Given the description of an element on the screen output the (x, y) to click on. 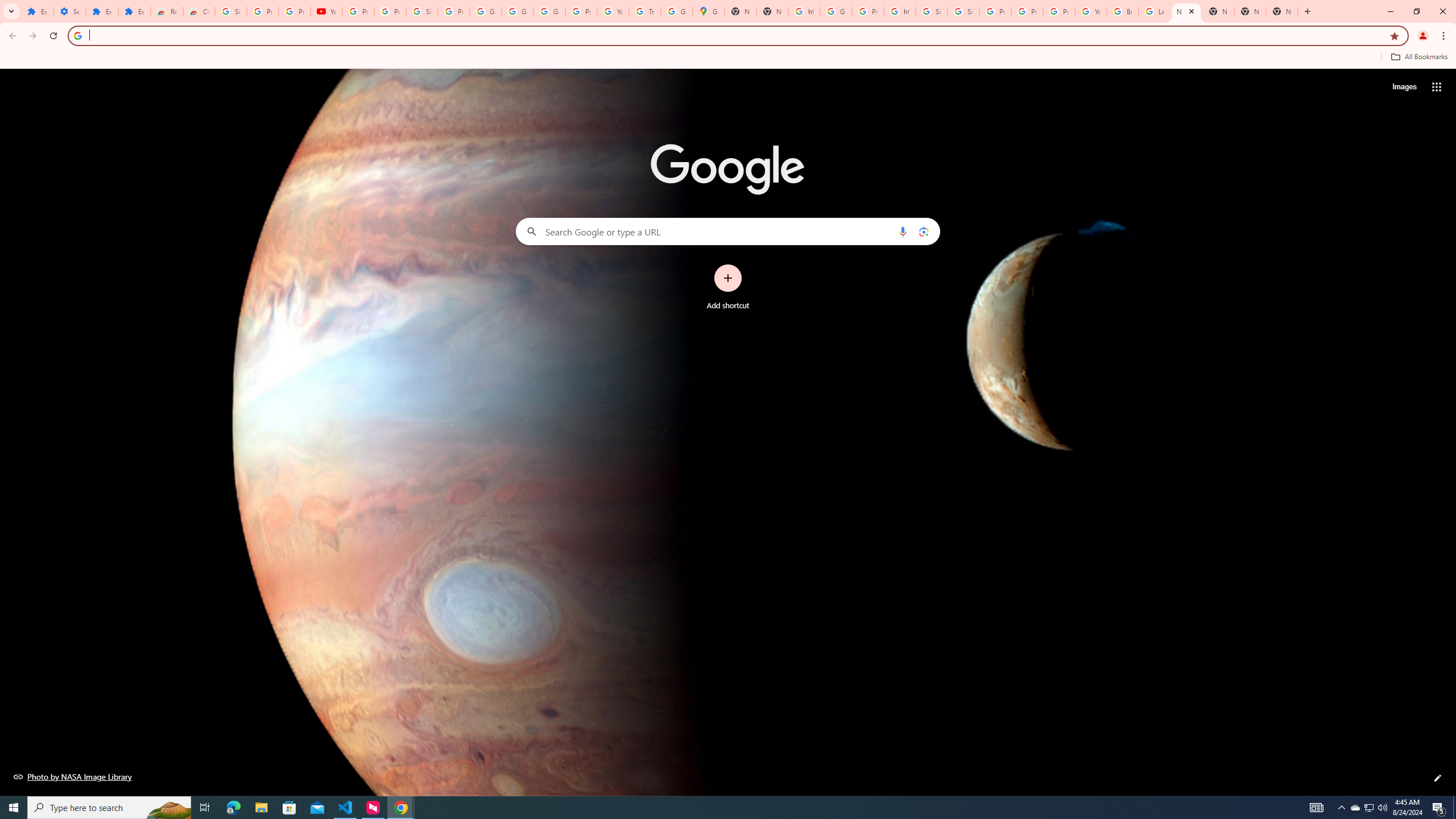
https://scholar.google.com/ (804, 11)
Reviews: Helix Fruit Jump Arcade Game (166, 11)
Extensions (101, 11)
Extensions (134, 11)
Privacy Help Center - Policies Help (995, 11)
Google Account (485, 11)
Sign in - Google Accounts (963, 11)
Extensions (37, 11)
